Given the description of an element on the screen output the (x, y) to click on. 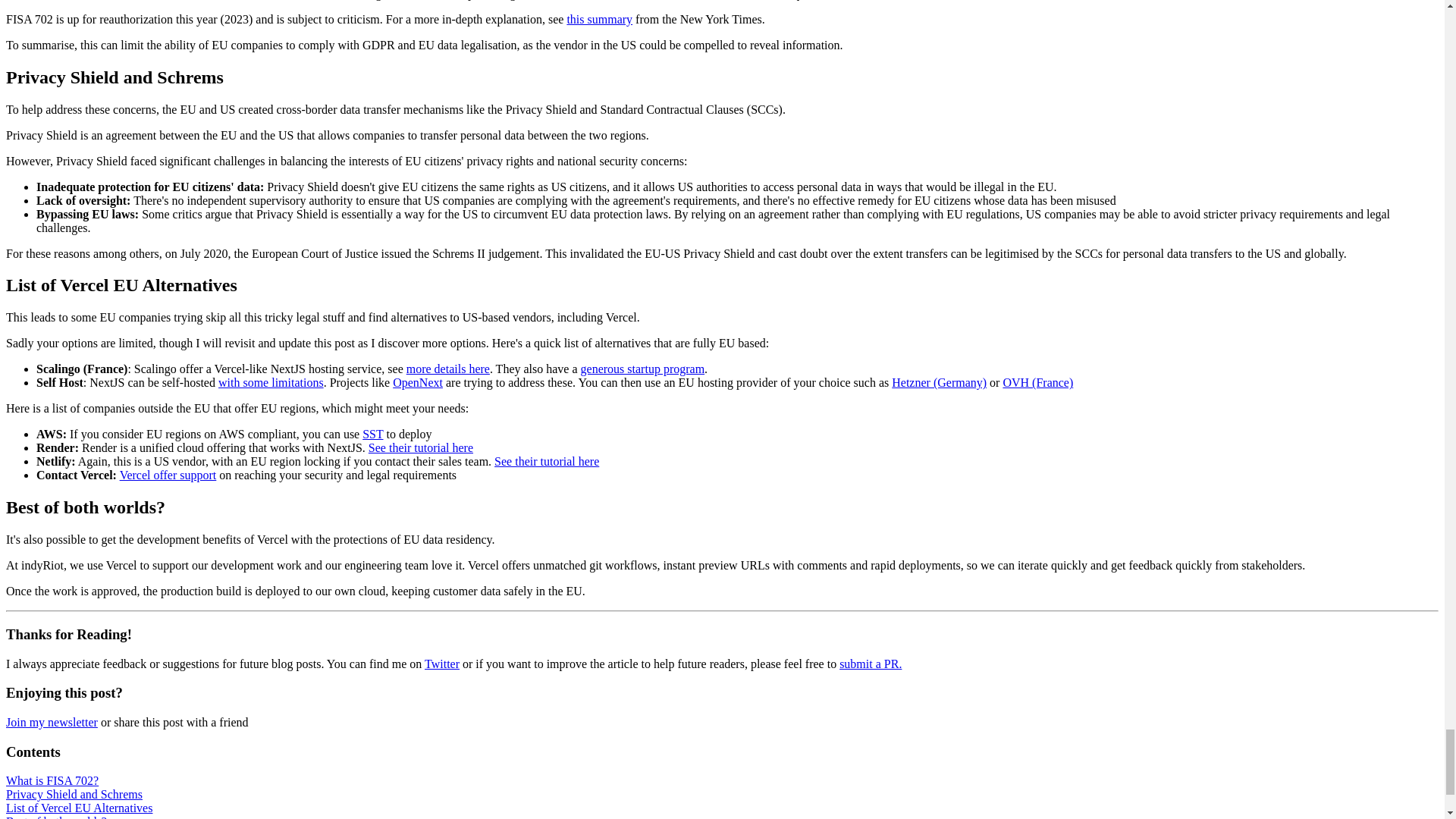
See their tutorial here (420, 447)
See their tutorial here (546, 461)
Twitter (442, 663)
Best of both worlds? (55, 816)
List of Vercel EU Alternatives (78, 807)
OpenNext (417, 382)
SST (372, 433)
generous startup program (642, 368)
Join my newsletter (51, 721)
What is FISA 702? (52, 780)
more details here (447, 368)
submit a PR. (870, 663)
this summary (598, 19)
Vercel offer support (167, 474)
with some limitations (270, 382)
